Given the description of an element on the screen output the (x, y) to click on. 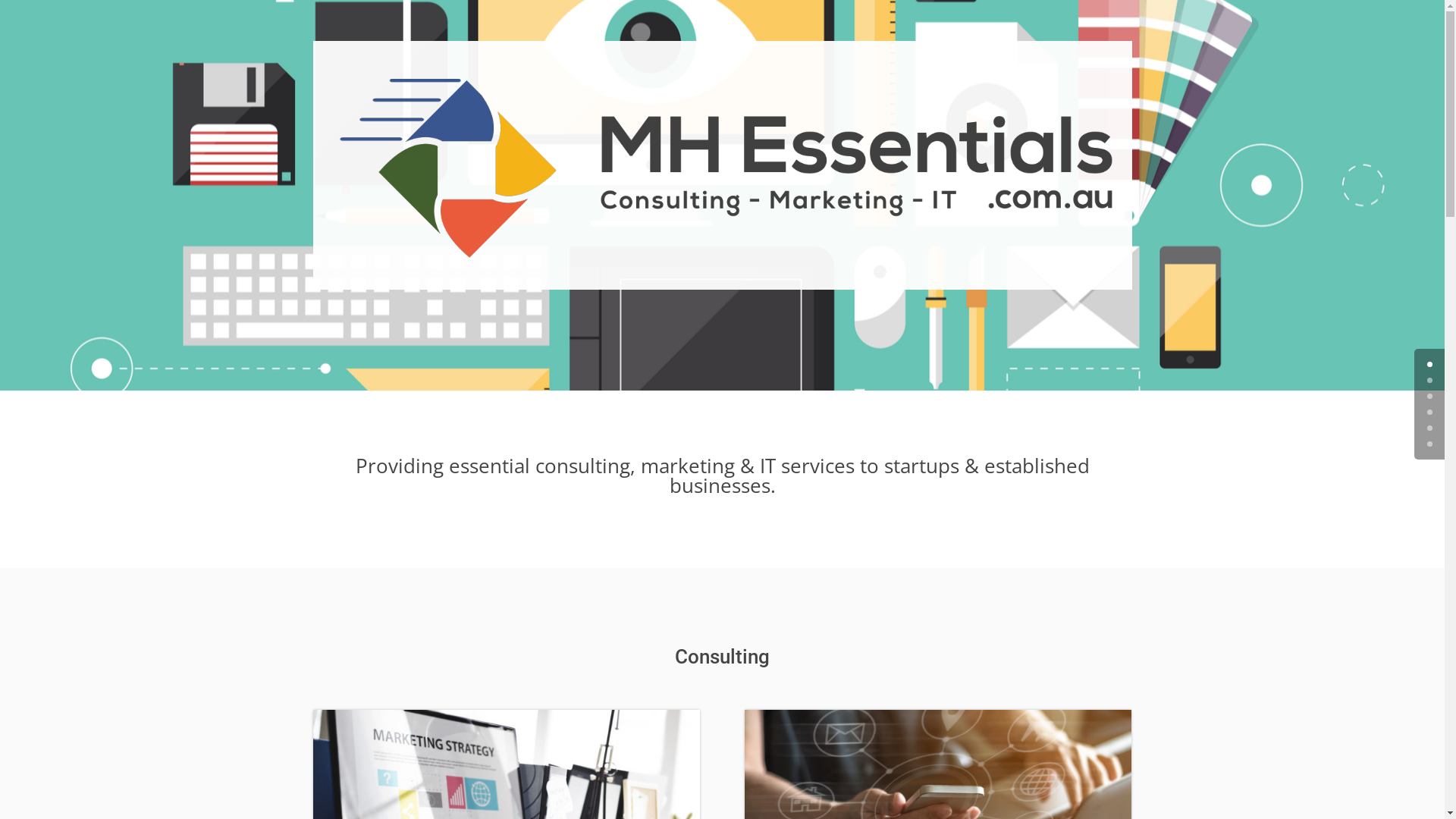
0 Element type: text (1429, 364)
4 Element type: text (1429, 427)
3 Element type: text (1429, 411)
2 Element type: text (1429, 395)
5 Element type: text (1429, 443)
1 Element type: text (1429, 379)
